Given the description of an element on the screen output the (x, y) to click on. 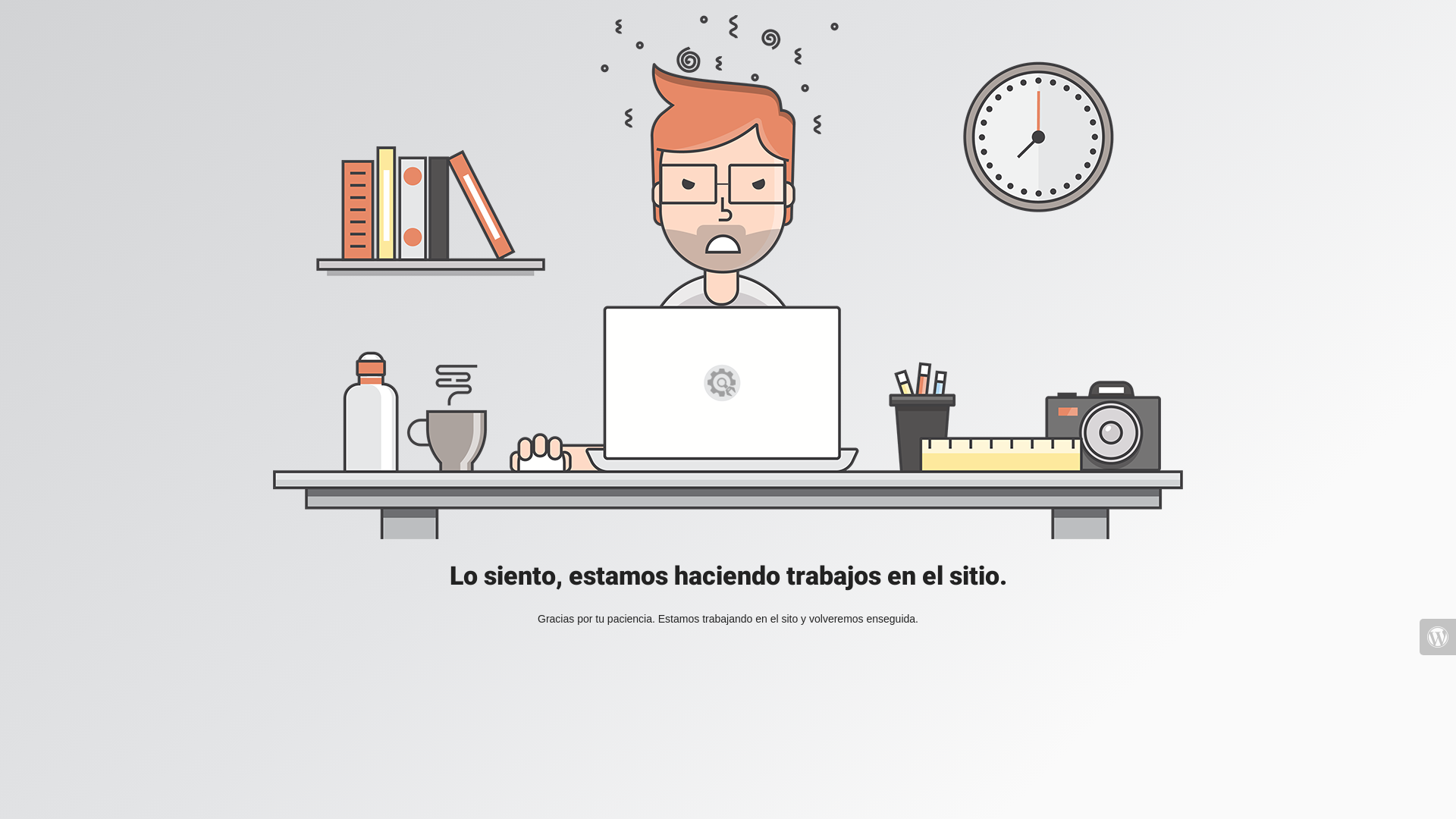
Mad Designer at work Element type: hover (728, 277)
